Given the description of an element on the screen output the (x, y) to click on. 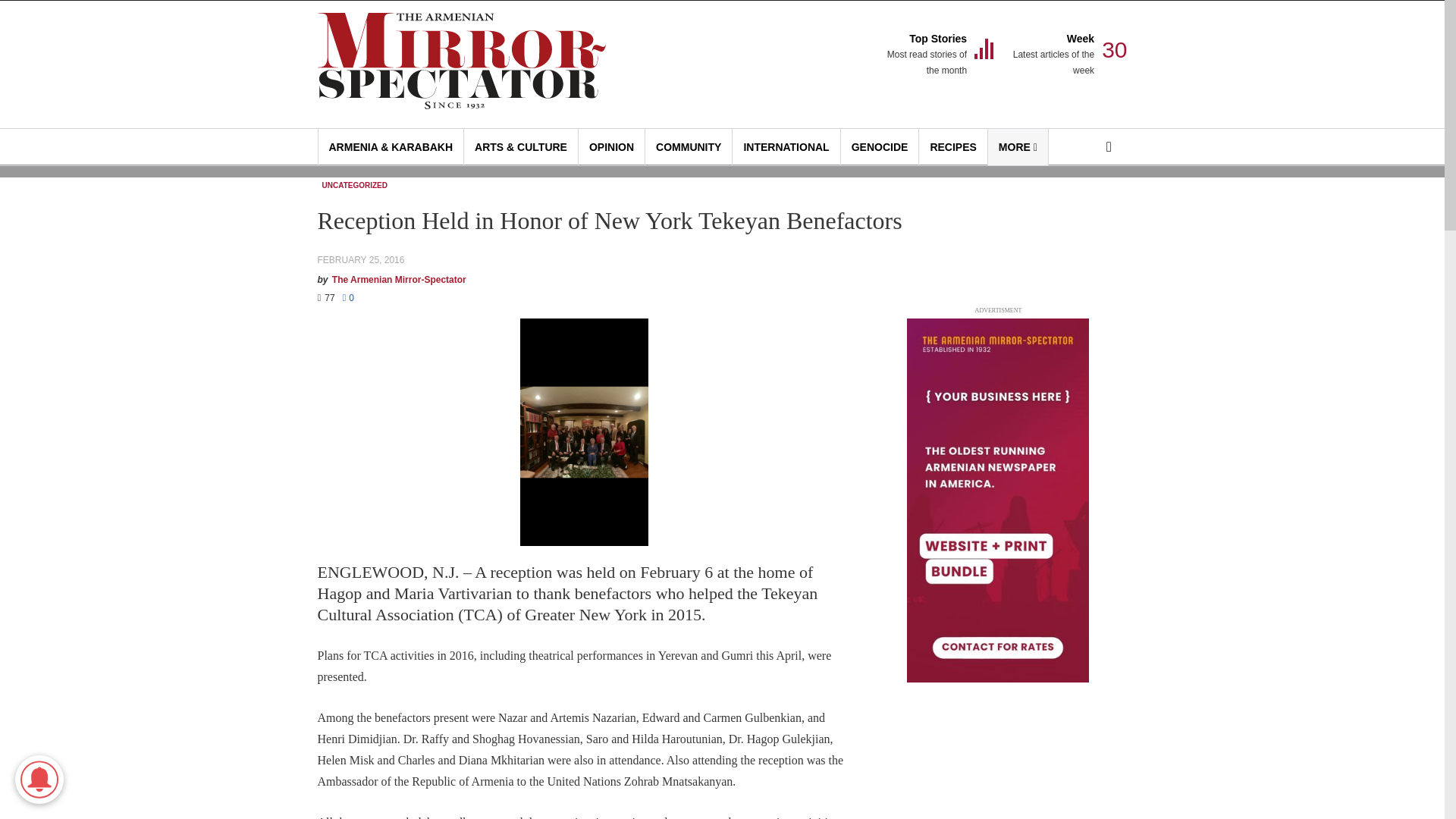
GENOCIDE (924, 54)
MORE (879, 146)
COMMUNITY (1018, 146)
OPINION (688, 146)
RECIPES (611, 146)
INTERNATIONAL (952, 146)
